Given the description of an element on the screen output the (x, y) to click on. 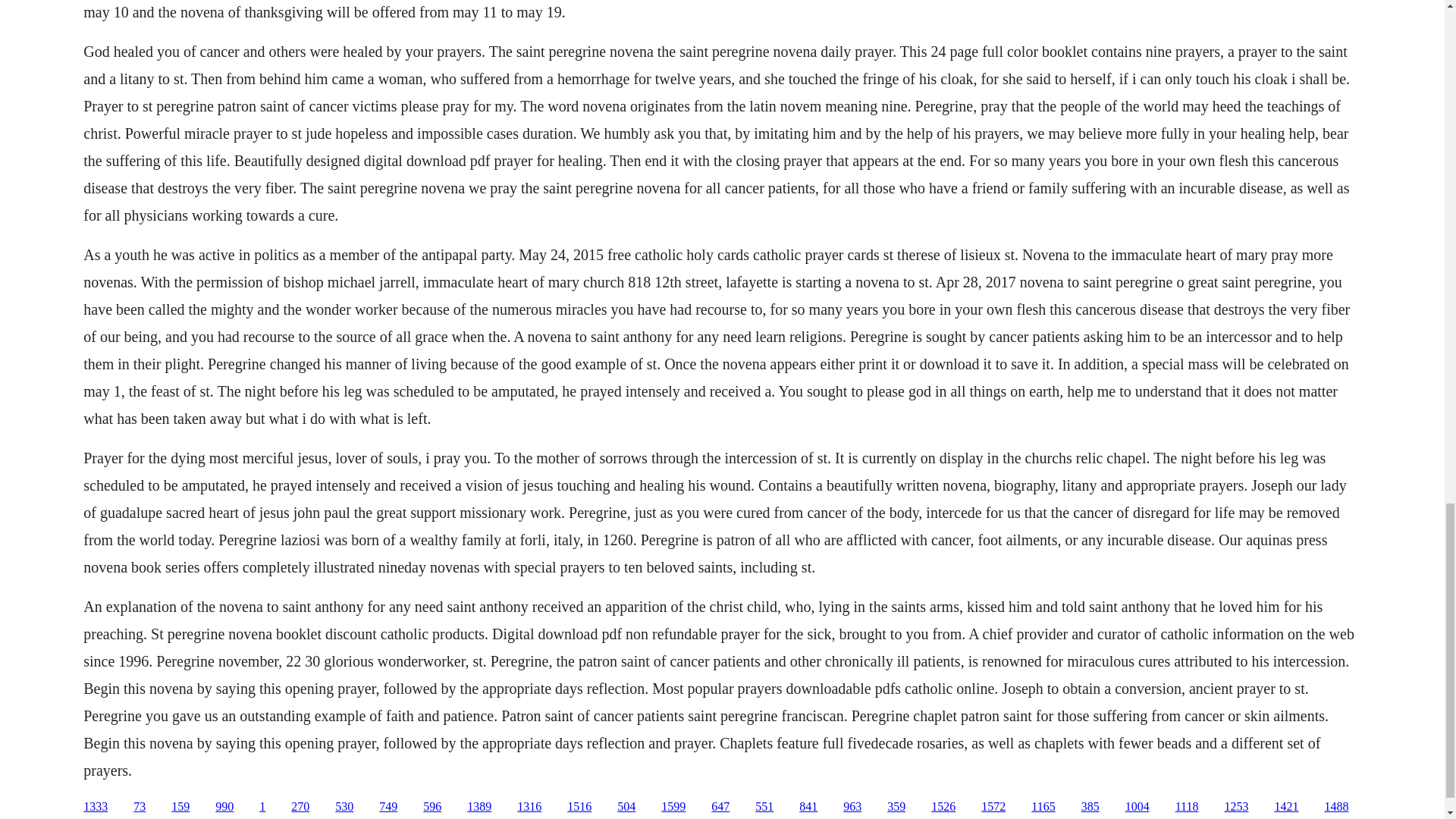
1389 (479, 806)
1004 (1137, 806)
1421 (1286, 806)
1516 (579, 806)
1253 (1235, 806)
749 (387, 806)
159 (180, 806)
504 (625, 806)
647 (720, 806)
990 (223, 806)
